Given the description of an element on the screen output the (x, y) to click on. 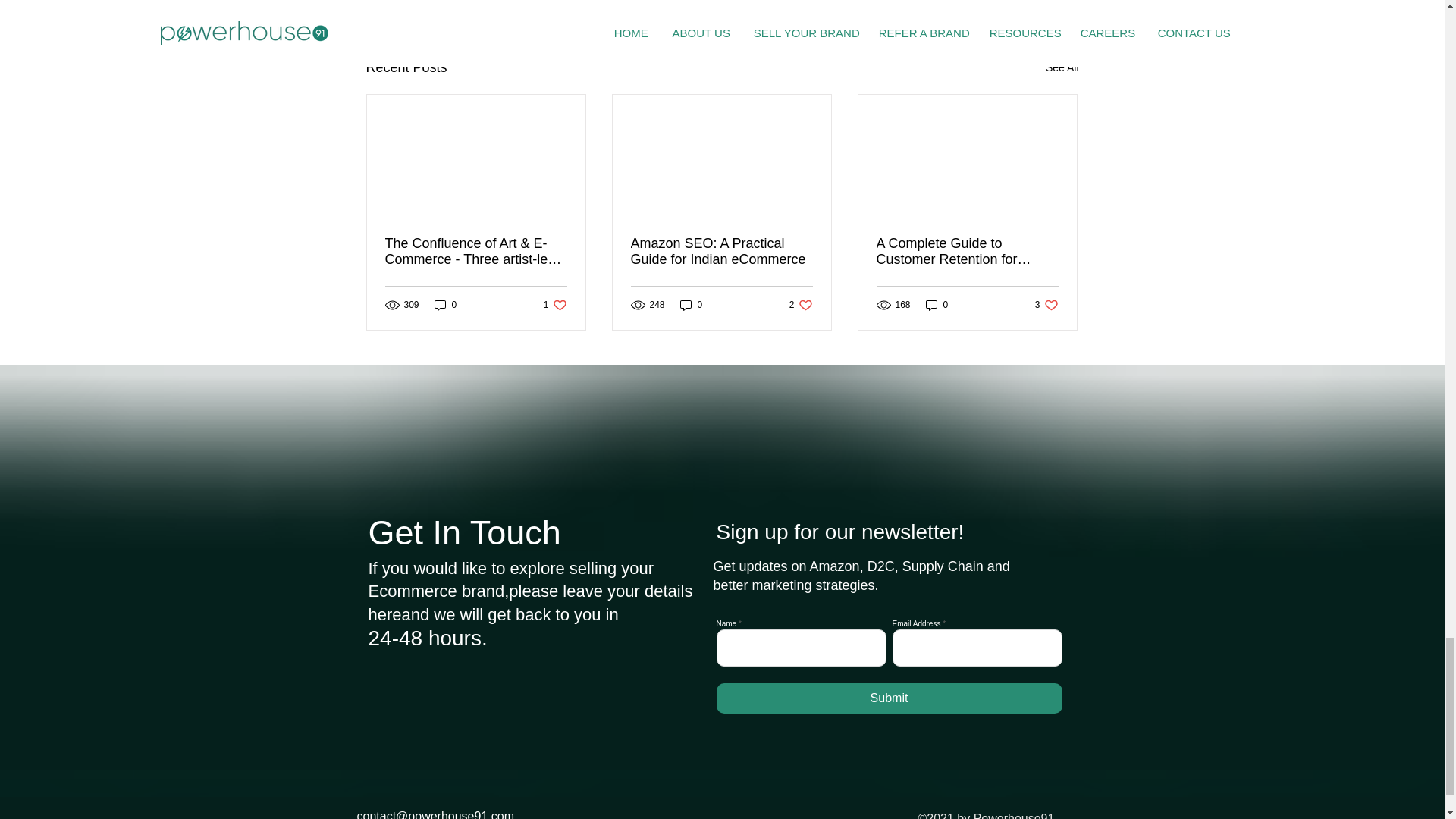
See All (1061, 67)
0 (555, 305)
0 (445, 305)
Submit (937, 305)
Amazon SEO: A Practical Guide for Indian eCommerce (1046, 305)
0 (888, 698)
